Given the description of an element on the screen output the (x, y) to click on. 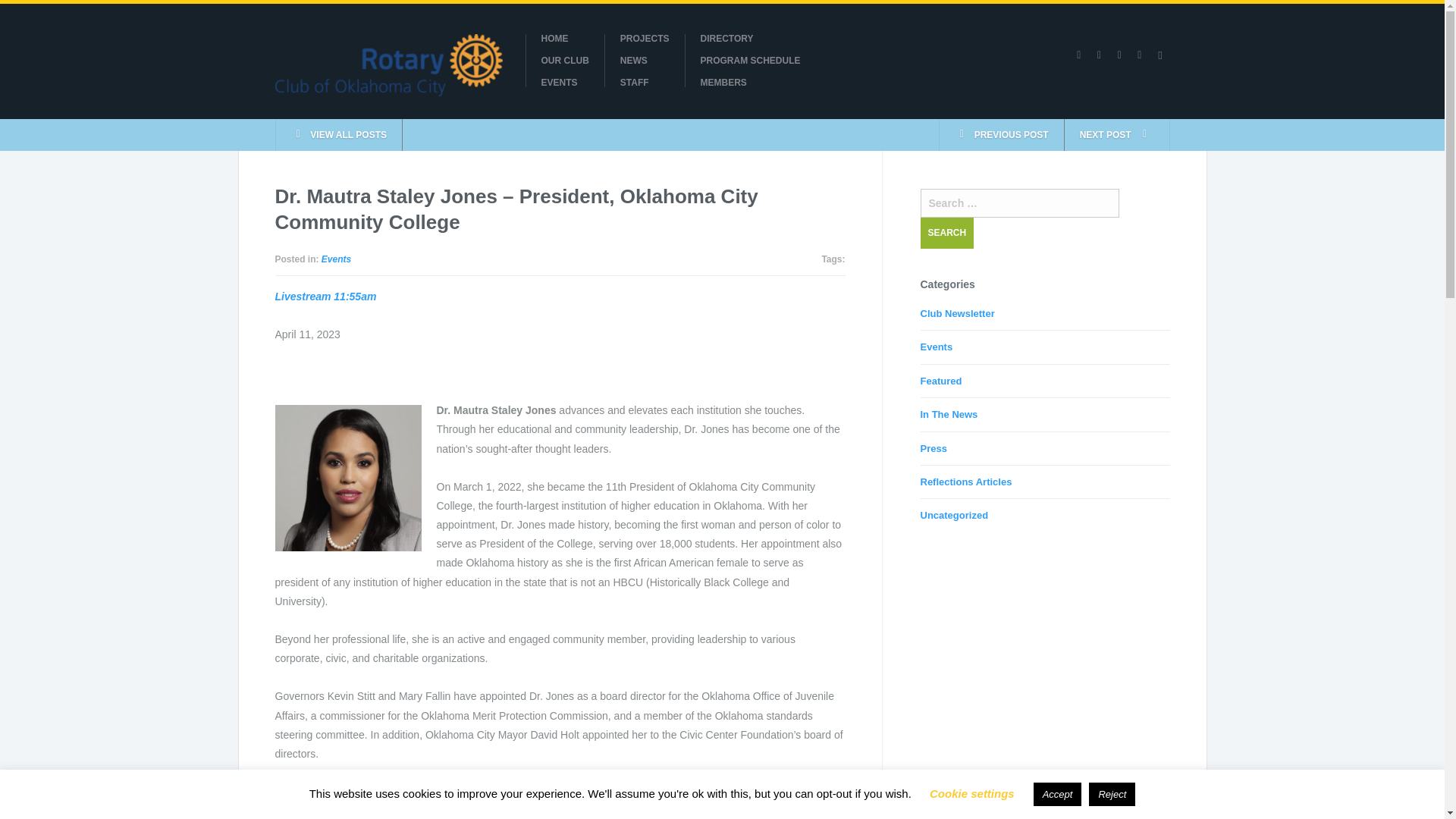
Featured (941, 380)
SEARCH (947, 232)
Events (335, 258)
VIEW ALL POSTS (338, 134)
Livestream 11:55am (325, 296)
EVENTS (565, 81)
Press (933, 448)
NEWS (644, 60)
Events (936, 346)
DIRECTORY (750, 38)
HOME (565, 38)
PREVIOUS POST (1001, 134)
OUR CLUB (565, 60)
In The News (949, 414)
SEARCH (947, 232)
